Given the description of an element on the screen output the (x, y) to click on. 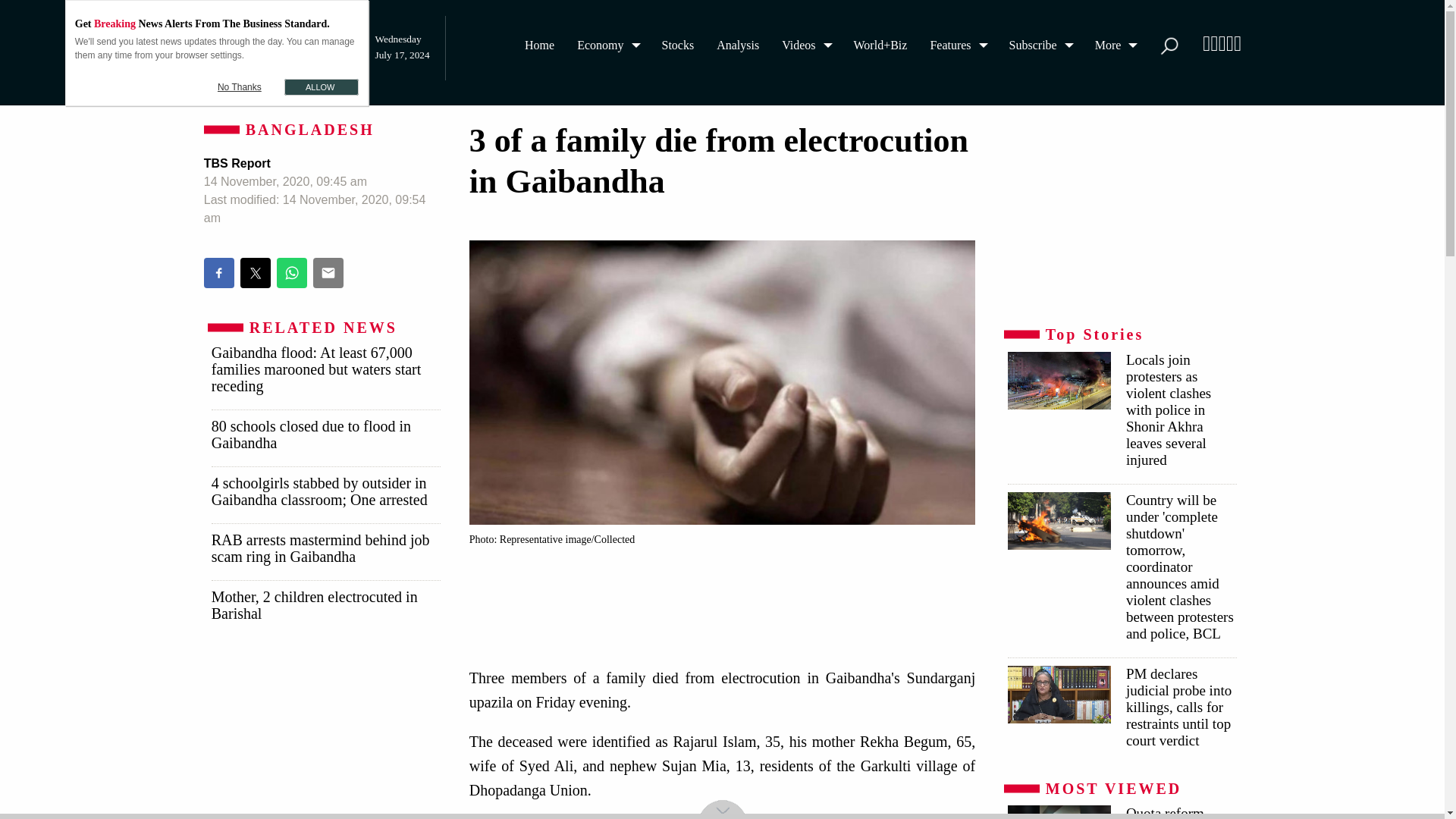
3rd party ad content (1120, 215)
No Thanks (239, 86)
    ALLOW      (320, 86)
3rd party ad content (324, 735)
3rd party ad content (726, 596)
